Given the description of an element on the screen output the (x, y) to click on. 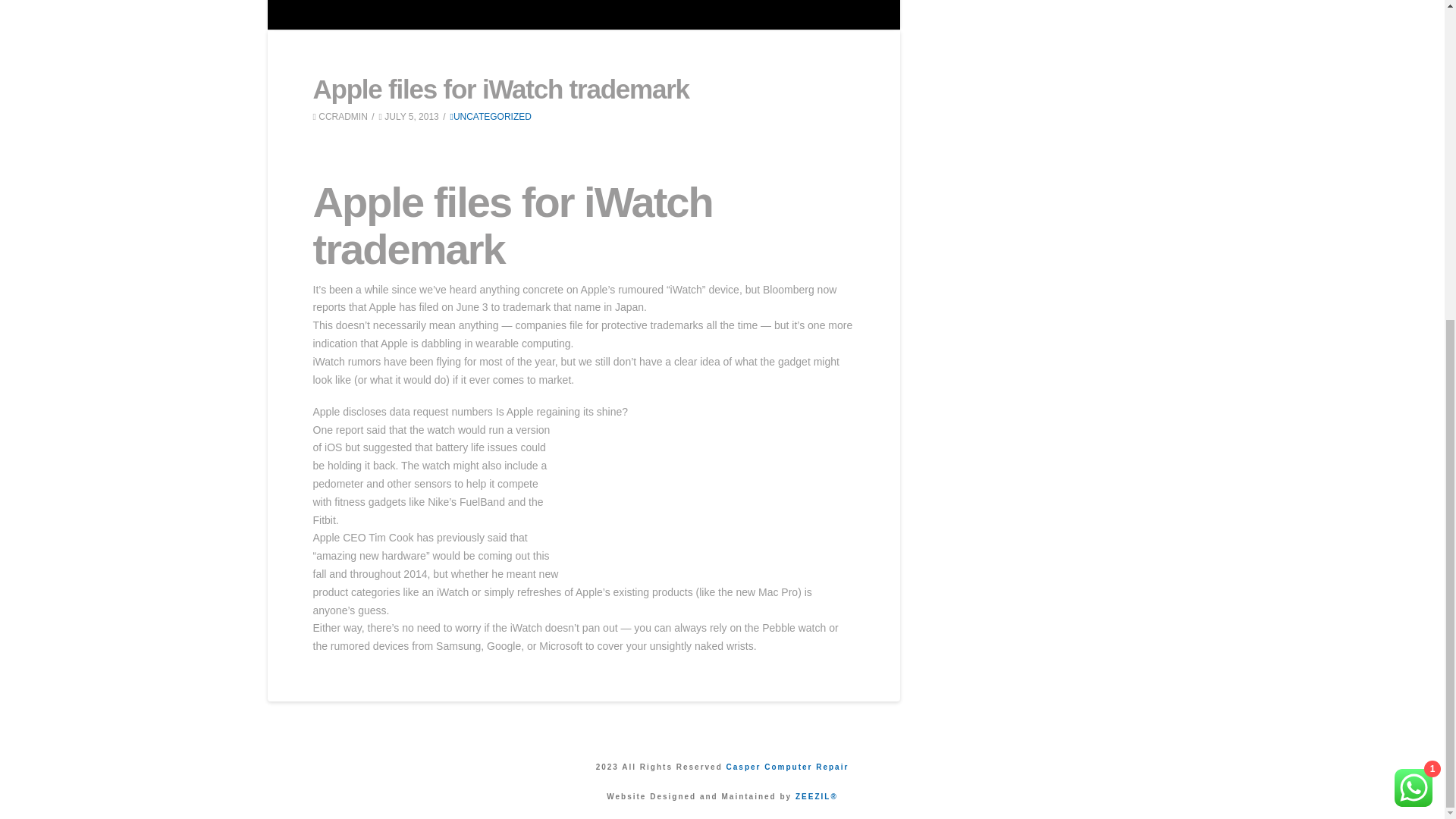
Casper Computer Repair (787, 766)
Apple files for 'iWatch' trademark (713, 502)
UNCATEGORIZED (490, 116)
